Given the description of an element on the screen output the (x, y) to click on. 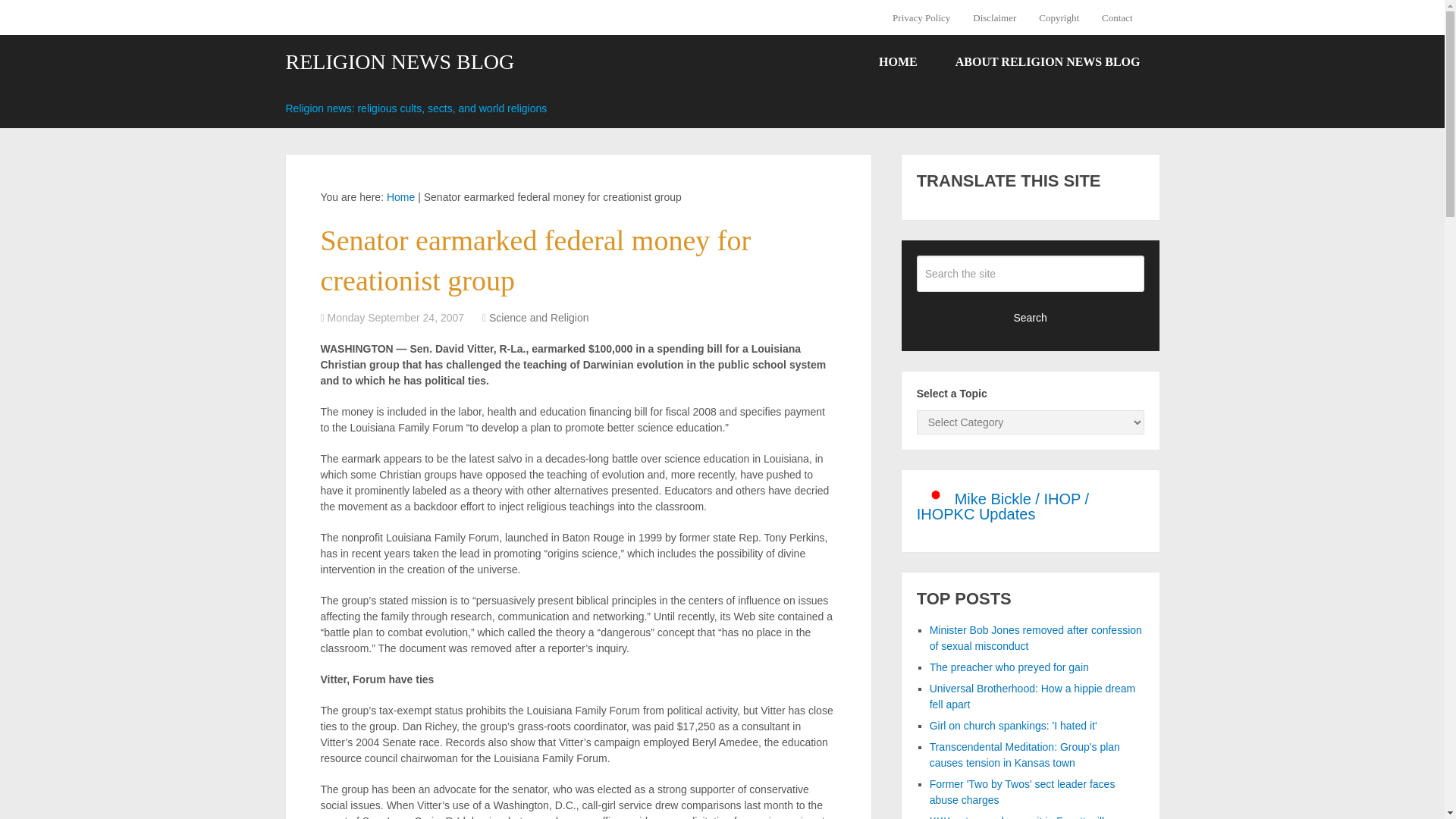
Home (400, 196)
Girl on church spankings: 'I hated it' (1013, 725)
Search (1030, 317)
HOME (898, 62)
Universal Brotherhood: How a hippie dream fell apart (1032, 696)
View all posts in Science and Religion (539, 317)
Contact (1116, 17)
ABOUT RELIGION NEWS BLOG (1047, 62)
Privacy Policy (926, 17)
RELIGION NEWS BLOG (399, 61)
Science and Religion (539, 317)
Former 'Two by Twos' sect leader faces abuse charges (1022, 791)
Disclaimer (993, 17)
